Given the description of an element on the screen output the (x, y) to click on. 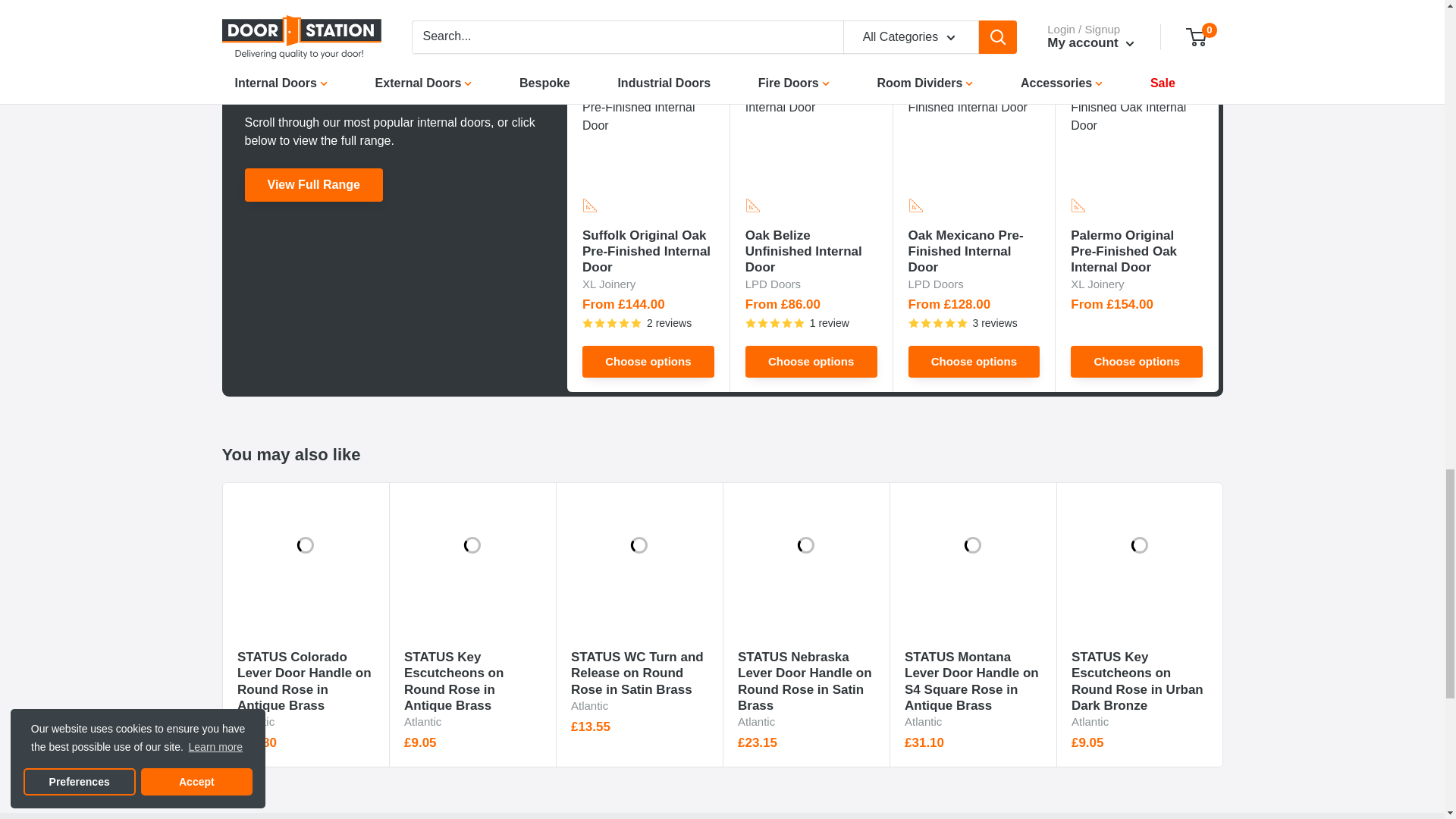
Made to Measure available (752, 205)
Made to Measure available (1078, 205)
Made to Measure available (589, 205)
Made to Measure available (915, 205)
